Given the description of an element on the screen output the (x, y) to click on. 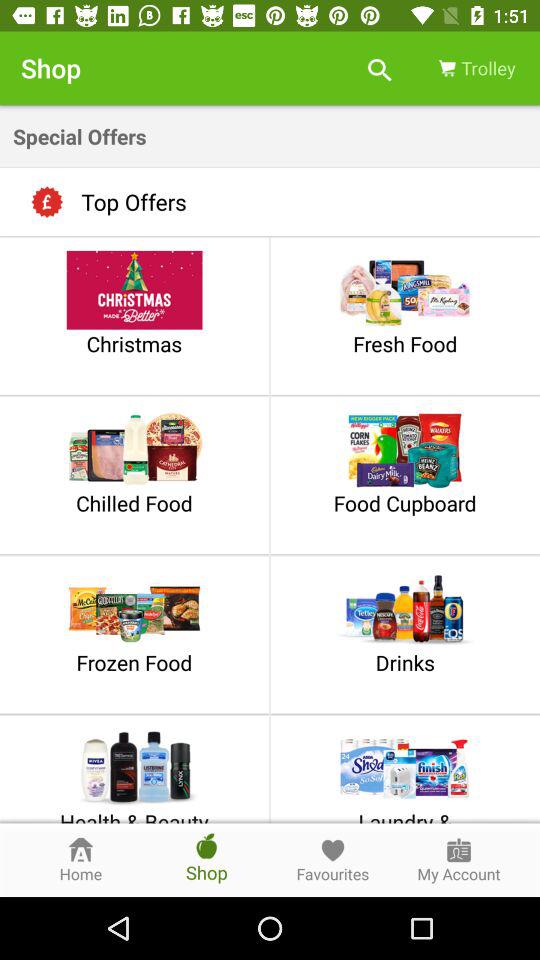
click on the trolley option (475, 67)
select the first image in the first row (134, 290)
